Given the description of an element on the screen output the (x, y) to click on. 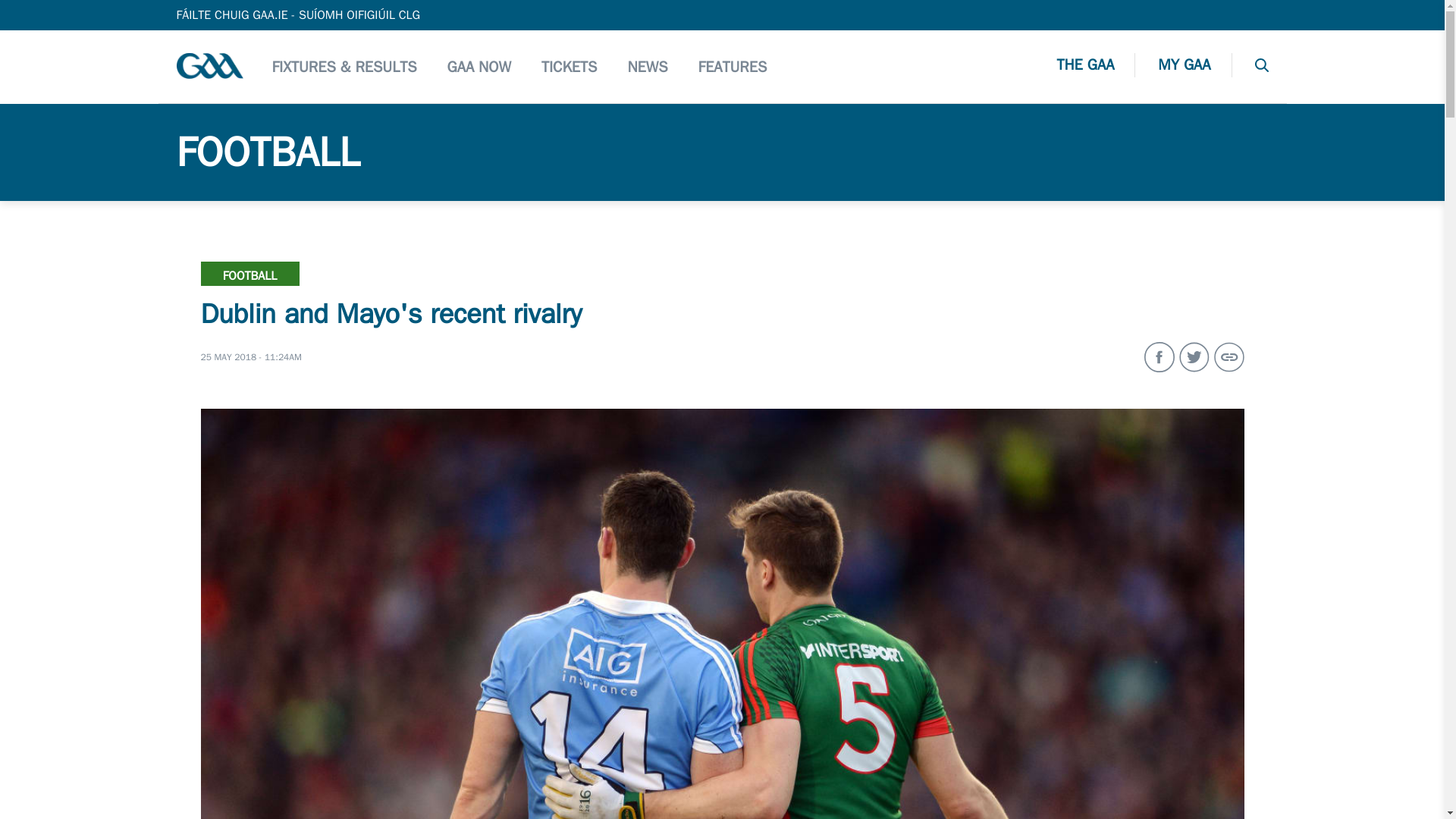
NEWS (646, 66)
TICKETS (568, 66)
FEATURES (732, 66)
GAA NOW (478, 66)
THE GAA (1096, 66)
